Given the description of an element on the screen output the (x, y) to click on. 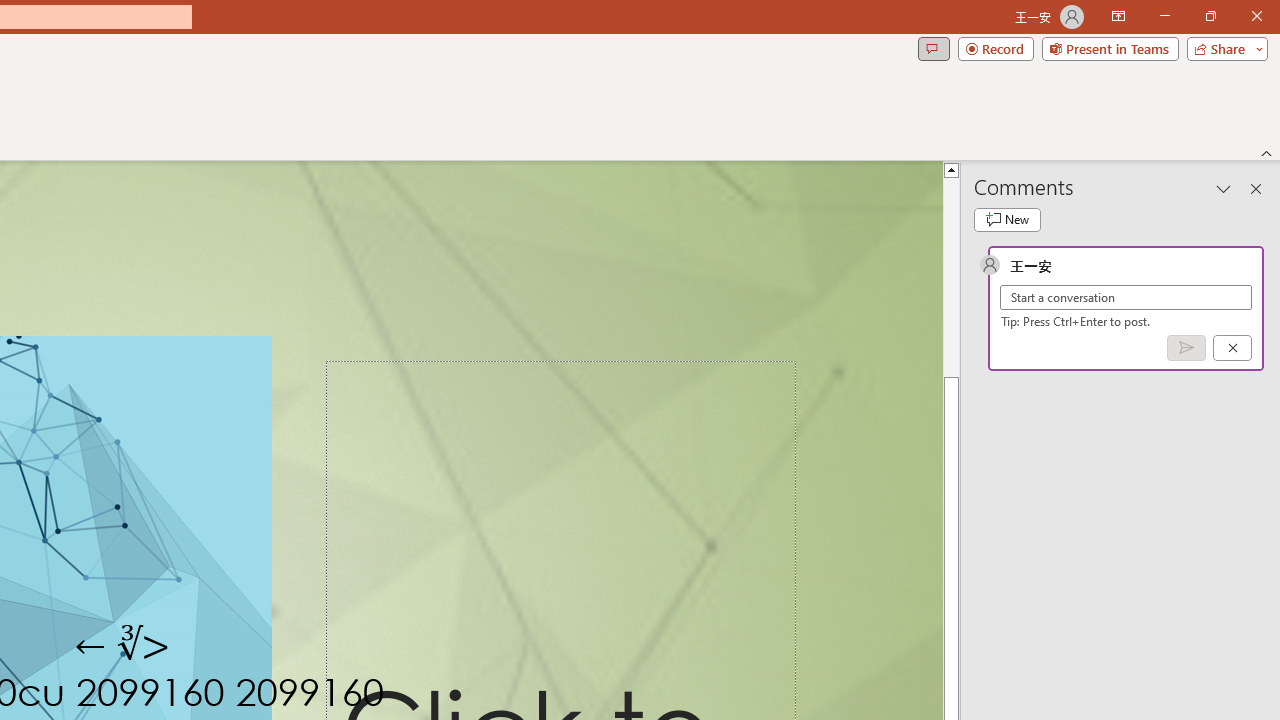
Start a conversation (1126, 297)
New comment (1007, 219)
Page up (951, 237)
TextBox 7 (123, 645)
Post comment (Ctrl + Enter) (1186, 347)
